Given the description of an element on the screen output the (x, y) to click on. 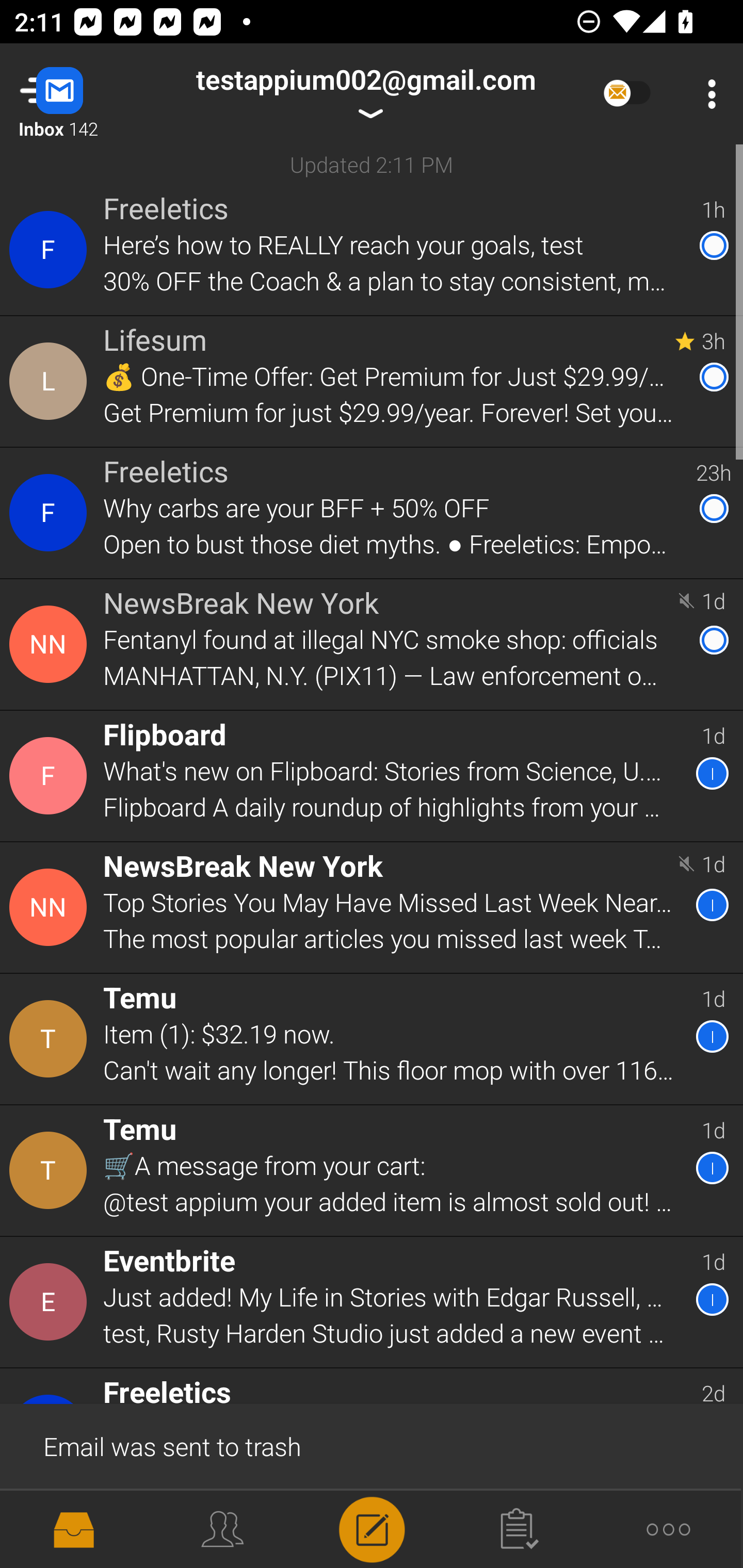
Navigate up (81, 93)
testappium002@gmail.com (365, 93)
More Options (706, 93)
Updated 2:11 PM (371, 164)
Contact Details (50, 250)
Contact Details (50, 381)
Contact Details (50, 513)
Contact Details (50, 644)
Contact Details (50, 776)
Contact Details (50, 907)
Contact Details (50, 1038)
Contact Details (50, 1170)
Contact Details (50, 1302)
Email was sent to trash (371, 1445)
Compose (371, 1528)
